Given the description of an element on the screen output the (x, y) to click on. 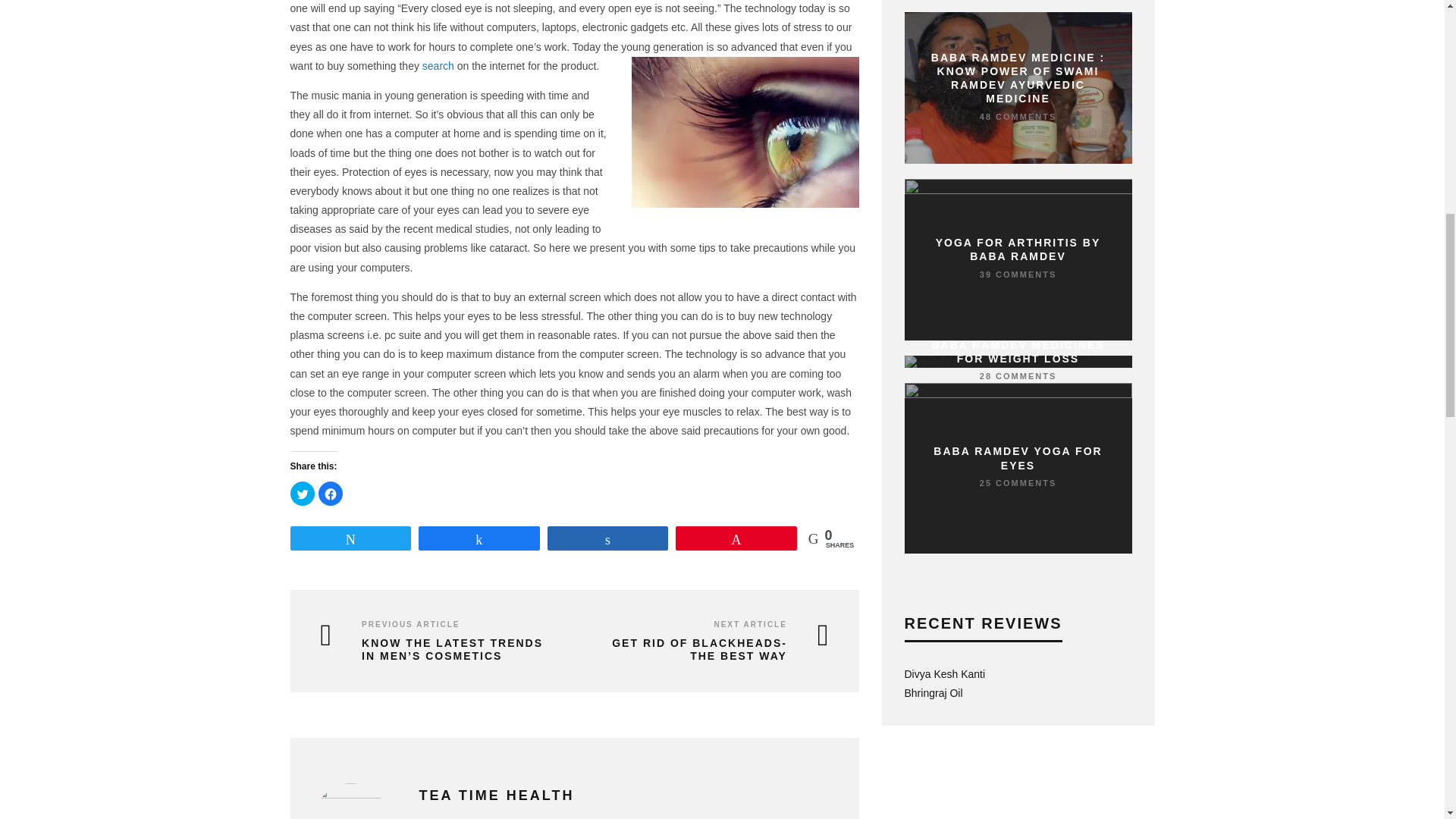
Click to share on Facebook (330, 493)
4 (1087, 689)
search (438, 65)
Divya Kesh Kanti -Baba Ramdev Shampoo for Hair Loss (944, 674)
4 (1087, 671)
Click to share on Twitter (301, 493)
